Given the description of an element on the screen output the (x, y) to click on. 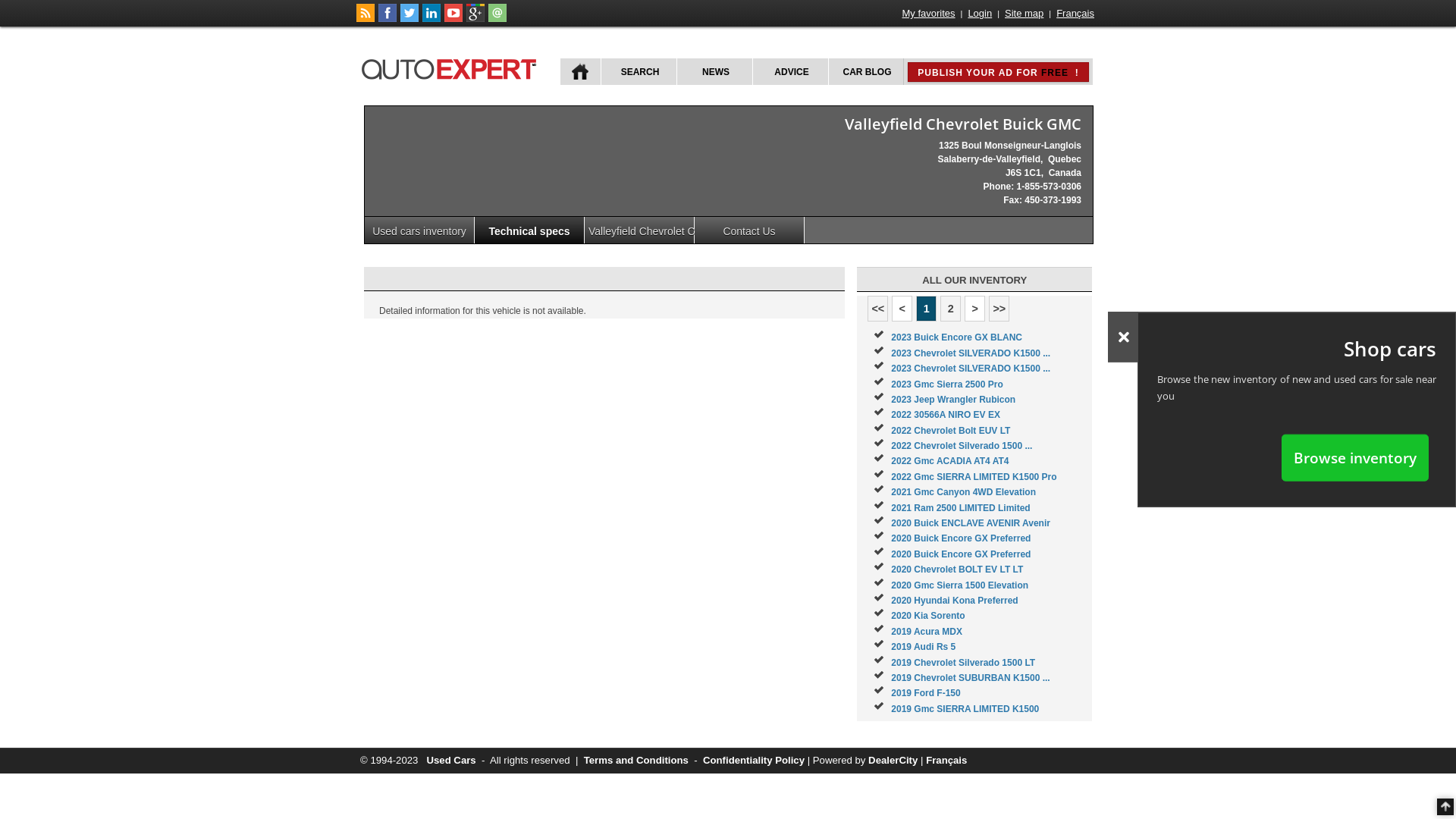
Used cars inventory Element type: text (419, 229)
2022 Gmc SIERRA LIMITED K1500 Pro Element type: text (973, 476)
SEARCH Element type: text (638, 71)
2023 Gmc Sierra 2500 Pro Element type: text (946, 384)
Follow car news on autoExpert.ca Element type: hover (365, 18)
CAR BLOG Element type: text (865, 71)
2019 Audi Rs 5 Element type: text (923, 646)
2023 Chevrolet SILVERADO K1500 ... Element type: text (970, 353)
2022 Gmc ACADIA AT4 AT4 Element type: text (949, 460)
2023 Jeep Wrangler Rubicon Element type: text (953, 399)
2023 Buick Encore GX BLANC Element type: text (956, 337)
2019 Gmc SIERRA LIMITED K1500 Element type: text (964, 708)
Used Cars Element type: text (450, 759)
2020 Buick Encore GX Preferred Element type: text (960, 554)
Follow Publications Le Guide Inc. on LinkedIn Element type: hover (431, 18)
2019 Ford F-150 Element type: text (925, 692)
<< Element type: text (877, 308)
autoExpert.ca Element type: text (451, 66)
2020 Gmc Sierra 1500 Elevation Element type: text (959, 585)
Terms and Conditions Element type: text (635, 759)
> Element type: text (974, 308)
Follow autoExpert.ca on Google Plus Element type: hover (475, 18)
HOME Element type: text (580, 71)
< Element type: text (901, 308)
2022 Chevrolet Bolt EUV LT Element type: text (950, 430)
2 Element type: text (950, 308)
PUBLISH YOUR AD FOR FREE  ! Element type: text (997, 71)
2022 30566A NIRO EV EX Element type: text (945, 414)
2020 Buick Encore GX Preferred Element type: text (960, 538)
2020 Chevrolet BOLT EV LT LT Element type: text (956, 569)
2023 Chevrolet SILVERADO K1500 ... Element type: text (970, 368)
Contact autoExpert.ca Element type: hover (497, 18)
Login Element type: text (979, 13)
Valleyfield Chevrolet Certified Element type: text (639, 229)
2020 Hyundai Kona Preferred Element type: text (954, 600)
Browse inventory Element type: text (1354, 457)
Site map Element type: text (1023, 13)
2020 Kia Sorento Element type: text (927, 615)
Follow autoExpert.ca on Twitter Element type: hover (409, 18)
DealerCity Element type: text (892, 759)
Follow autoExpert.ca on Facebook Element type: hover (387, 18)
My favorites Element type: text (928, 13)
Follow autoExpert.ca on Youtube Element type: hover (453, 18)
2021 Ram 2500 LIMITED Limited Element type: text (960, 507)
2021 Gmc Canyon 4WD Elevation Element type: text (963, 491)
>> Element type: text (998, 308)
Technical specs Element type: text (529, 229)
2019 Chevrolet Silverado 1500 LT Element type: text (963, 662)
NEWS Element type: text (714, 71)
Contact Us Element type: text (749, 229)
2019 Acura MDX Element type: text (926, 631)
2019 Chevrolet SUBURBAN K1500 ... Element type: text (970, 677)
1 Element type: text (926, 308)
2020 Buick ENCLAVE AVENIR Avenir Element type: text (970, 522)
2022 Chevrolet Silverado 1500 ... Element type: text (961, 445)
ADVICE Element type: text (790, 71)
Confidentiality Policy Element type: text (753, 759)
